Given the description of an element on the screen output the (x, y) to click on. 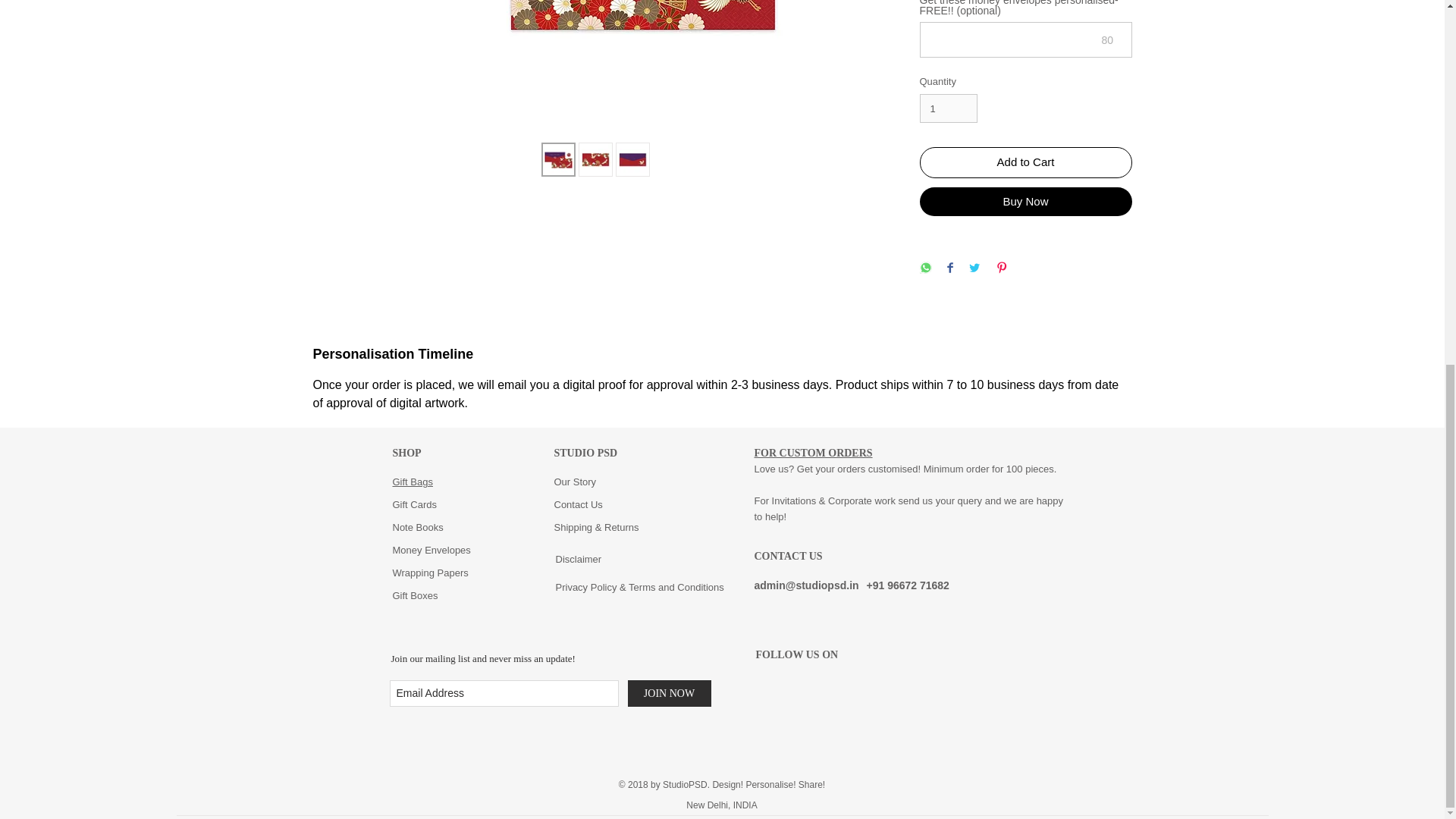
1 (947, 108)
